Given the description of an element on the screen output the (x, y) to click on. 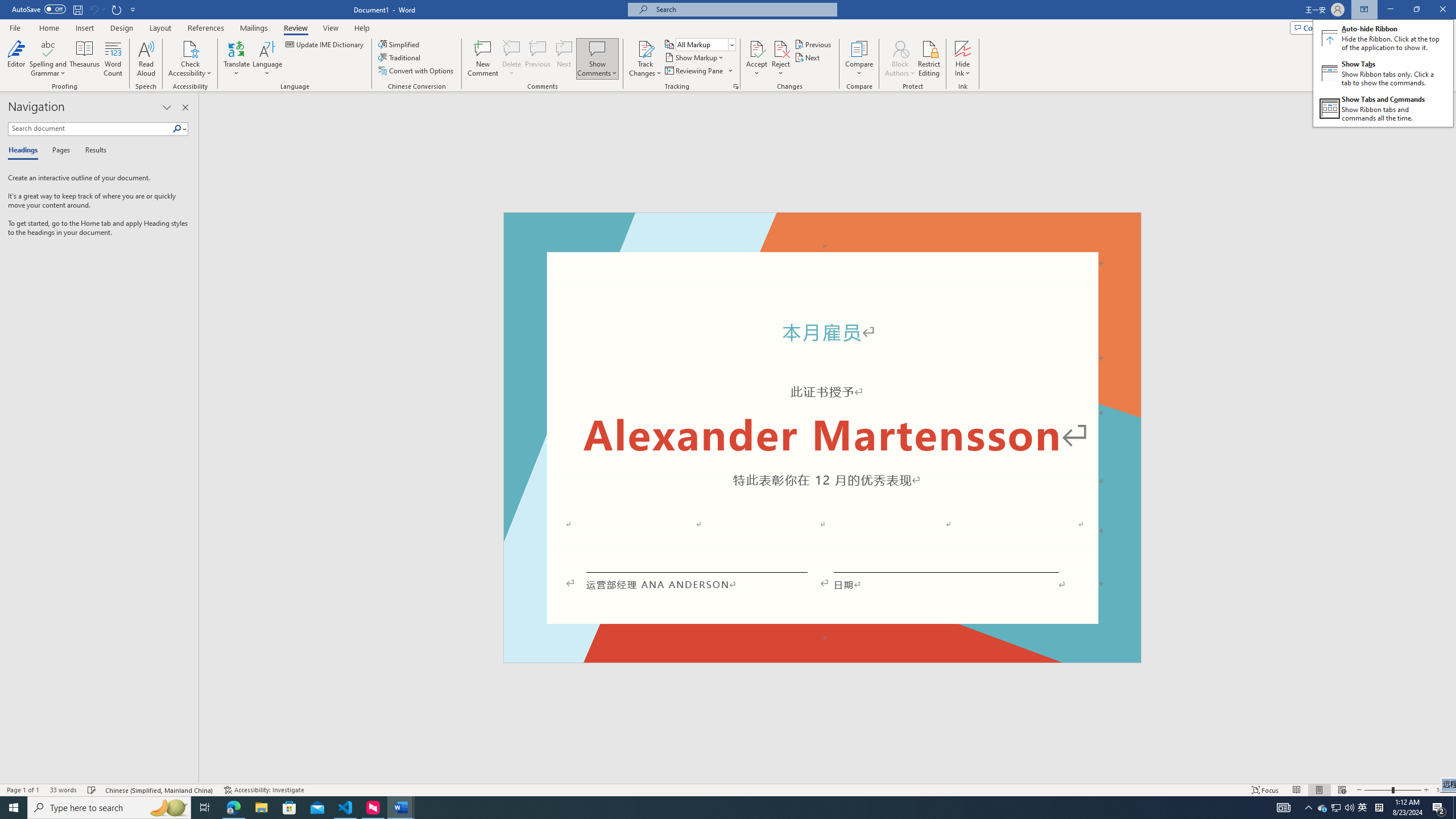
Reviewing Pane (698, 69)
Task Pane Options (167, 107)
AutomationID: 4105 (1283, 807)
Translate (236, 58)
Pages (59, 150)
Zoom (1392, 790)
Zoom 100% (1443, 790)
Can't Undo (1335, 807)
Word Count (96, 9)
